Given the description of an element on the screen output the (x, y) to click on. 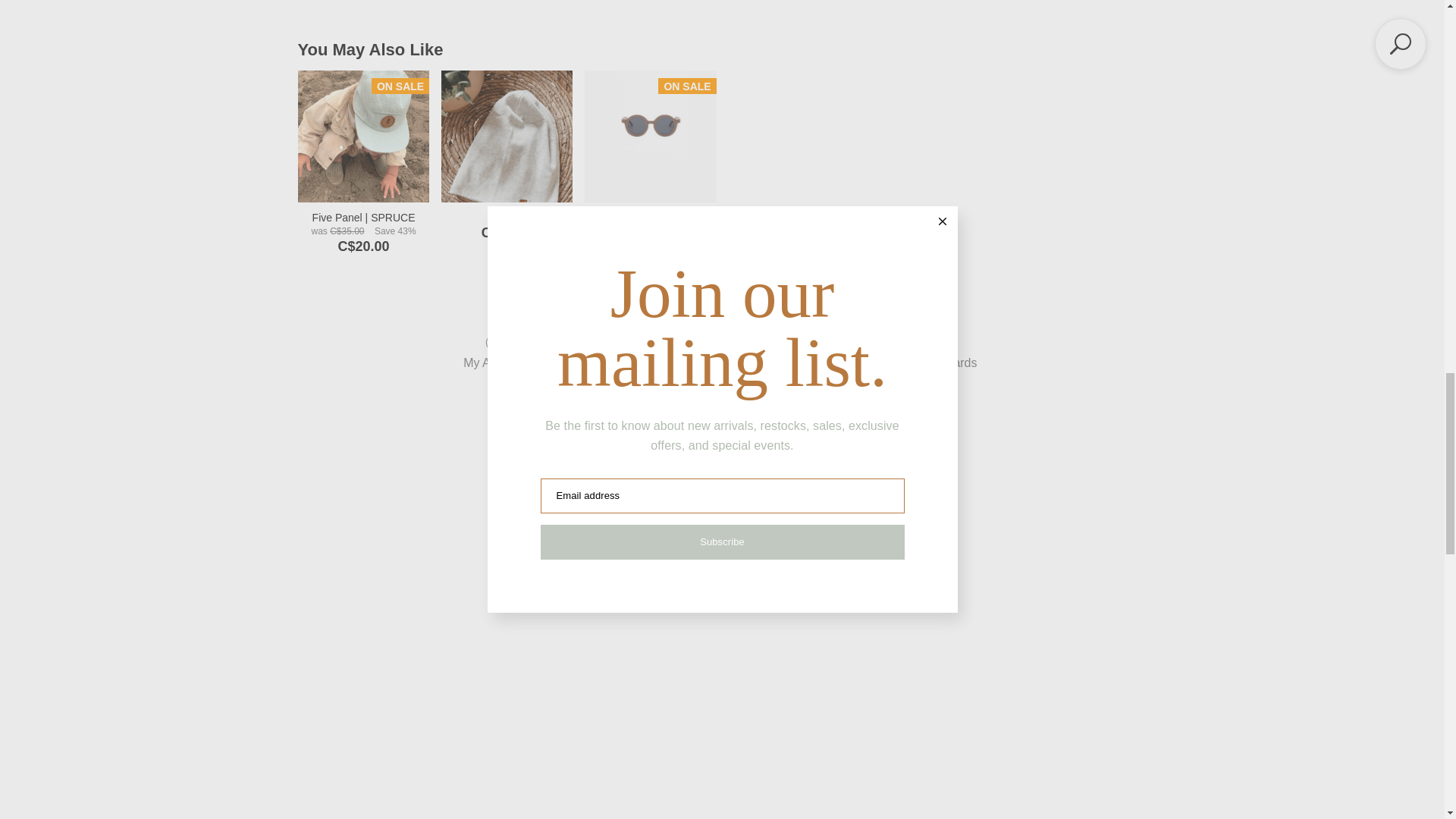
Ash (506, 135)
